Given the description of an element on the screen output the (x, y) to click on. 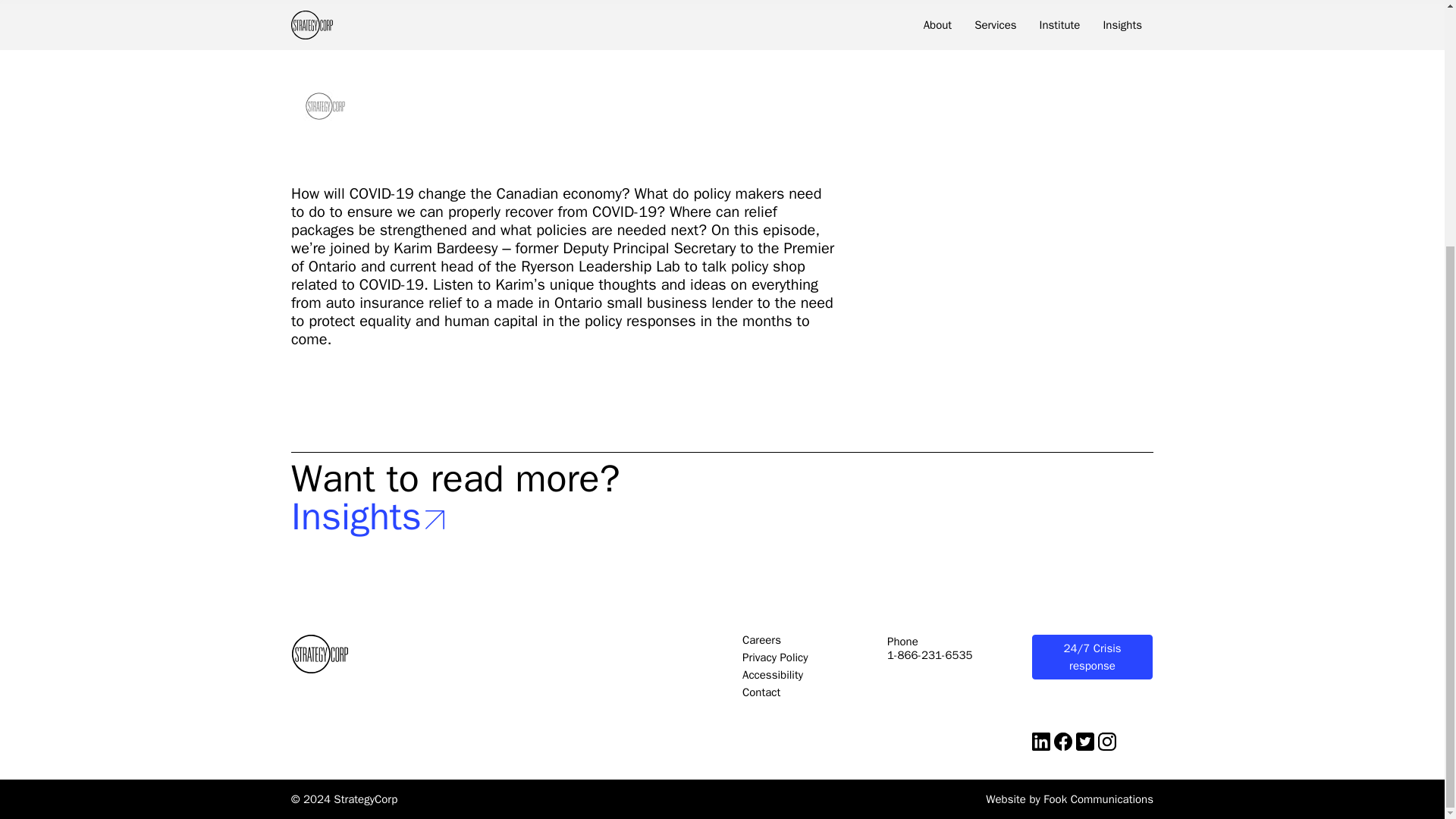
Libsyn Player (564, 106)
Insights (722, 516)
Website by Fook Communications (1069, 798)
Careers (761, 640)
Privacy Policy (775, 657)
1-866-231-6535 (929, 654)
Accessibility (772, 674)
Contact (761, 692)
